Given the description of an element on the screen output the (x, y) to click on. 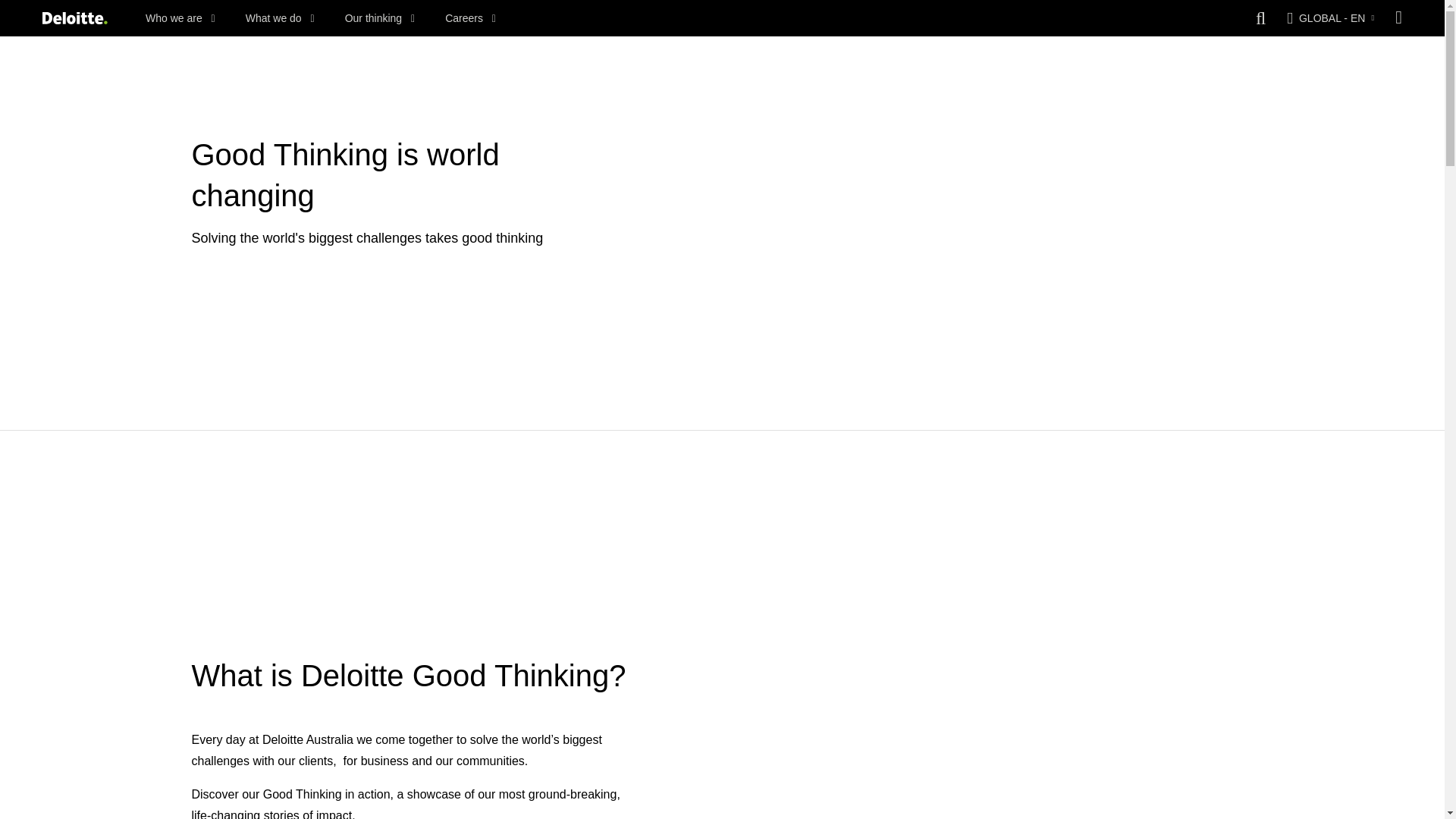
Our thinking (379, 18)
Who we are (180, 18)
Deloitte (74, 18)
What we do (280, 18)
Careers (470, 18)
